Given the description of an element on the screen output the (x, y) to click on. 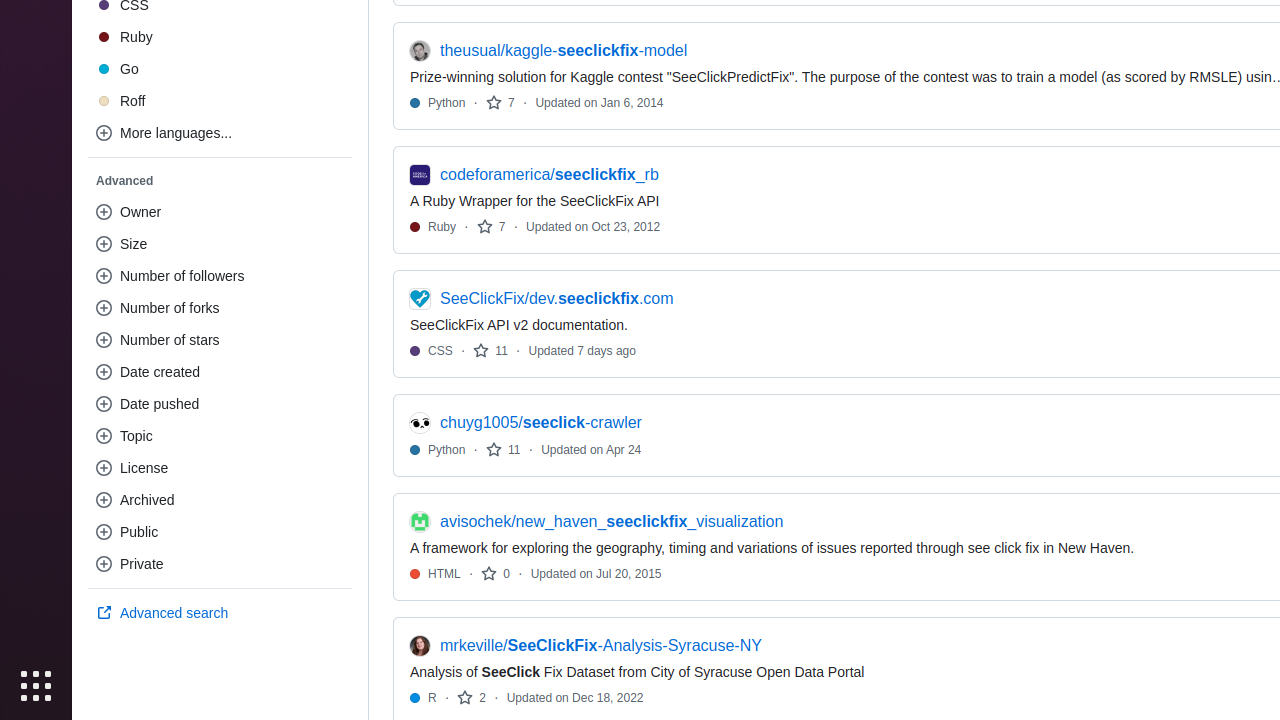
avisochek/new_haven_seeclickfix_visualization Element type: link (612, 522)
‎Date created‎ Element type: push-button (220, 372)
Advanced search Element type: link (220, 613)
7 stars Element type: link (500, 102)
2 stars Element type: link (472, 697)
